Given the description of an element on the screen output the (x, y) to click on. 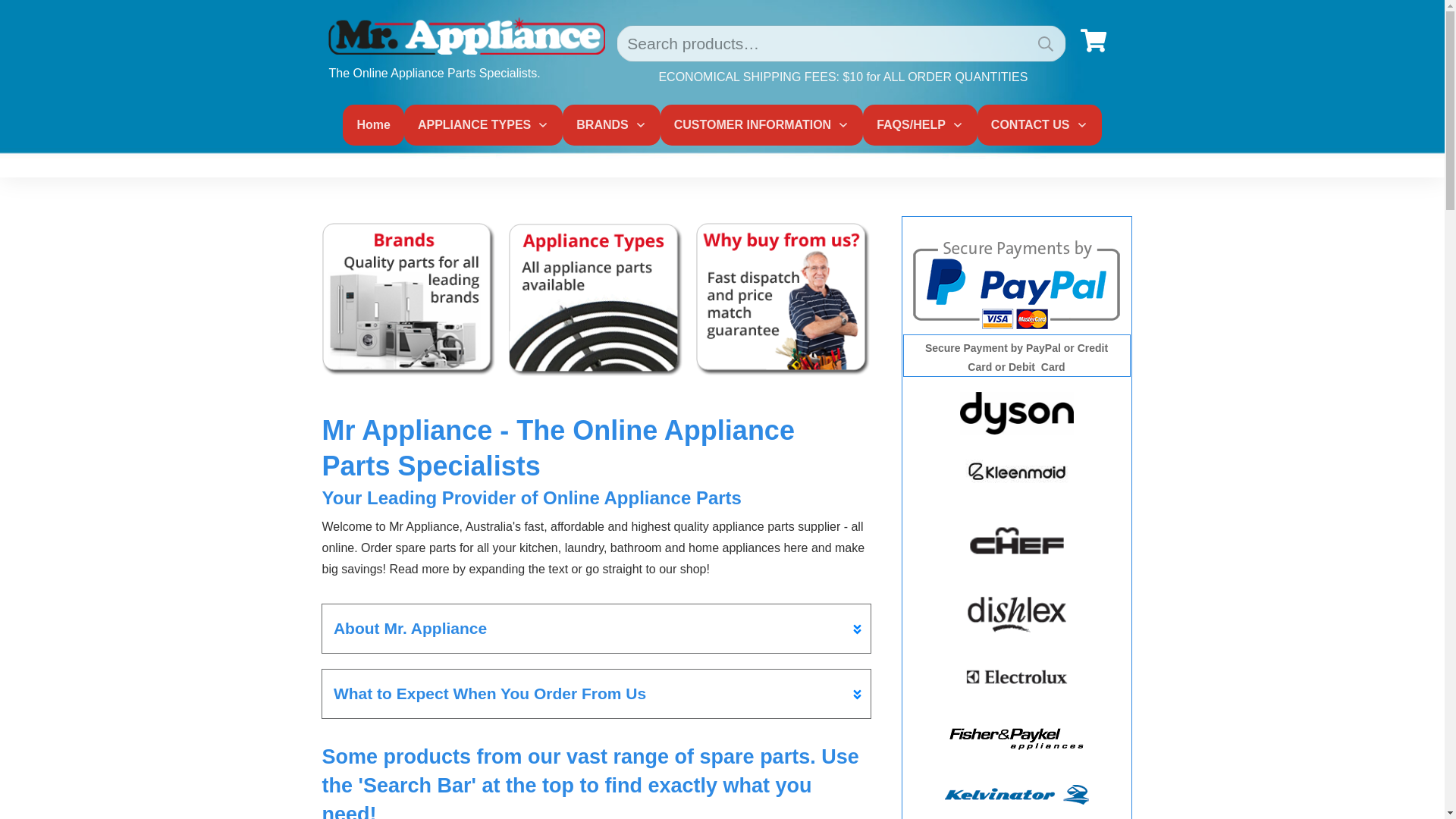
kleenmaid Element type: hover (1016, 470)
homepage_brands Element type: hover (409, 300)
logo_fisherpaykel Element type: hover (1016, 738)
PayPal Logo Element type: hover (1015, 282)
logo_electrolux Element type: hover (1016, 676)
BRANDS Element type: text (611, 124)
homepage_apptypes Element type: hover (596, 300)
logo_chef Element type: hover (1016, 541)
APPLIANCE TYPES Element type: text (483, 124)
logo_dishlex Element type: hover (1016, 614)
FAQS/HELP Element type: text (919, 124)
homepage_whybuy Element type: hover (783, 300)
logo_kelvinator Element type: hover (1016, 794)
CUSTOMER INFORMATION Element type: text (761, 124)
dyson Element type: hover (1016, 413)
Home Element type: text (372, 124)
Search Element type: text (1045, 43)
CONTACT US Element type: text (1039, 124)
